Given the description of an element on the screen output the (x, y) to click on. 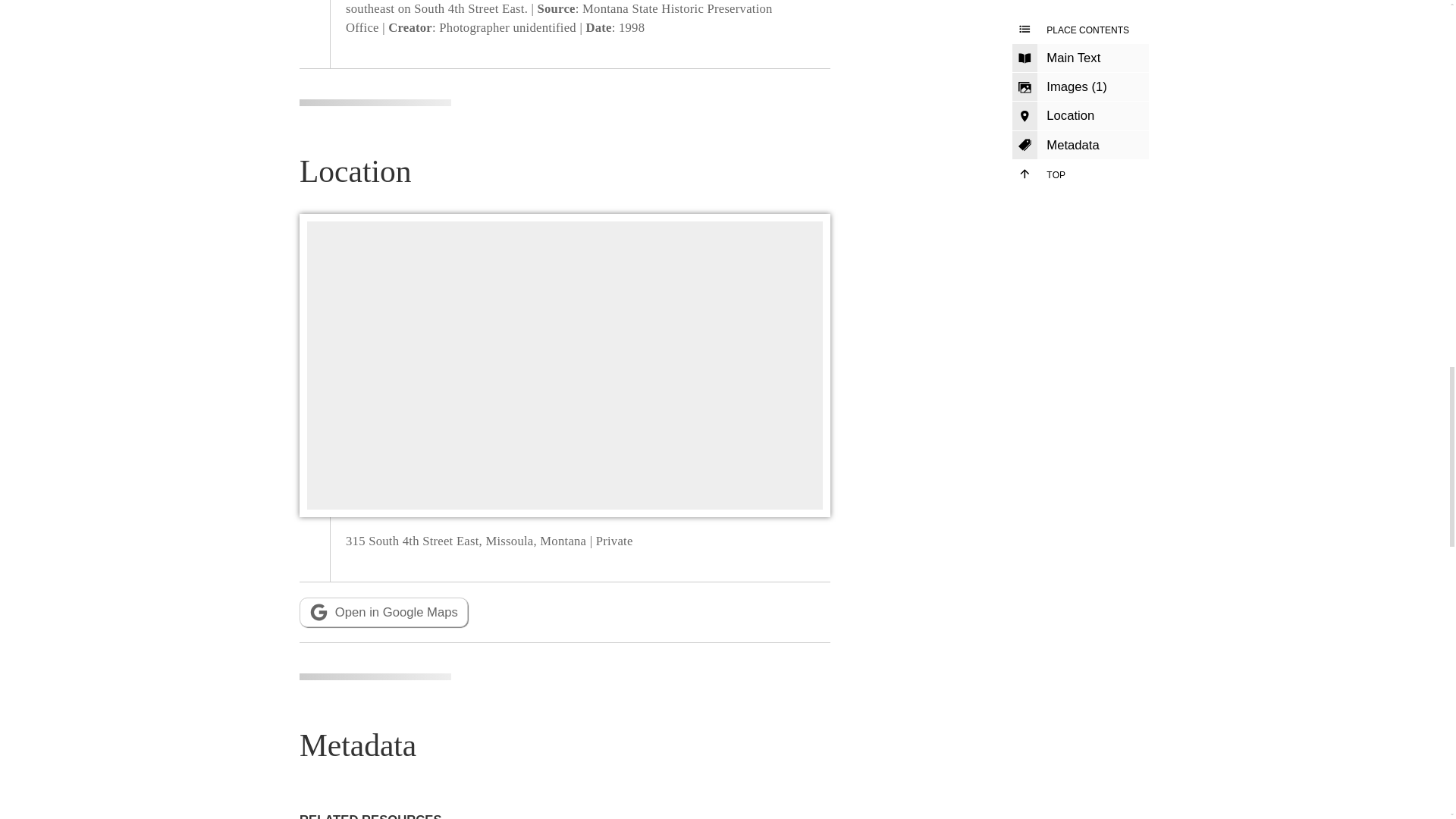
Open in Google Maps (383, 612)
